Given the description of an element on the screen output the (x, y) to click on. 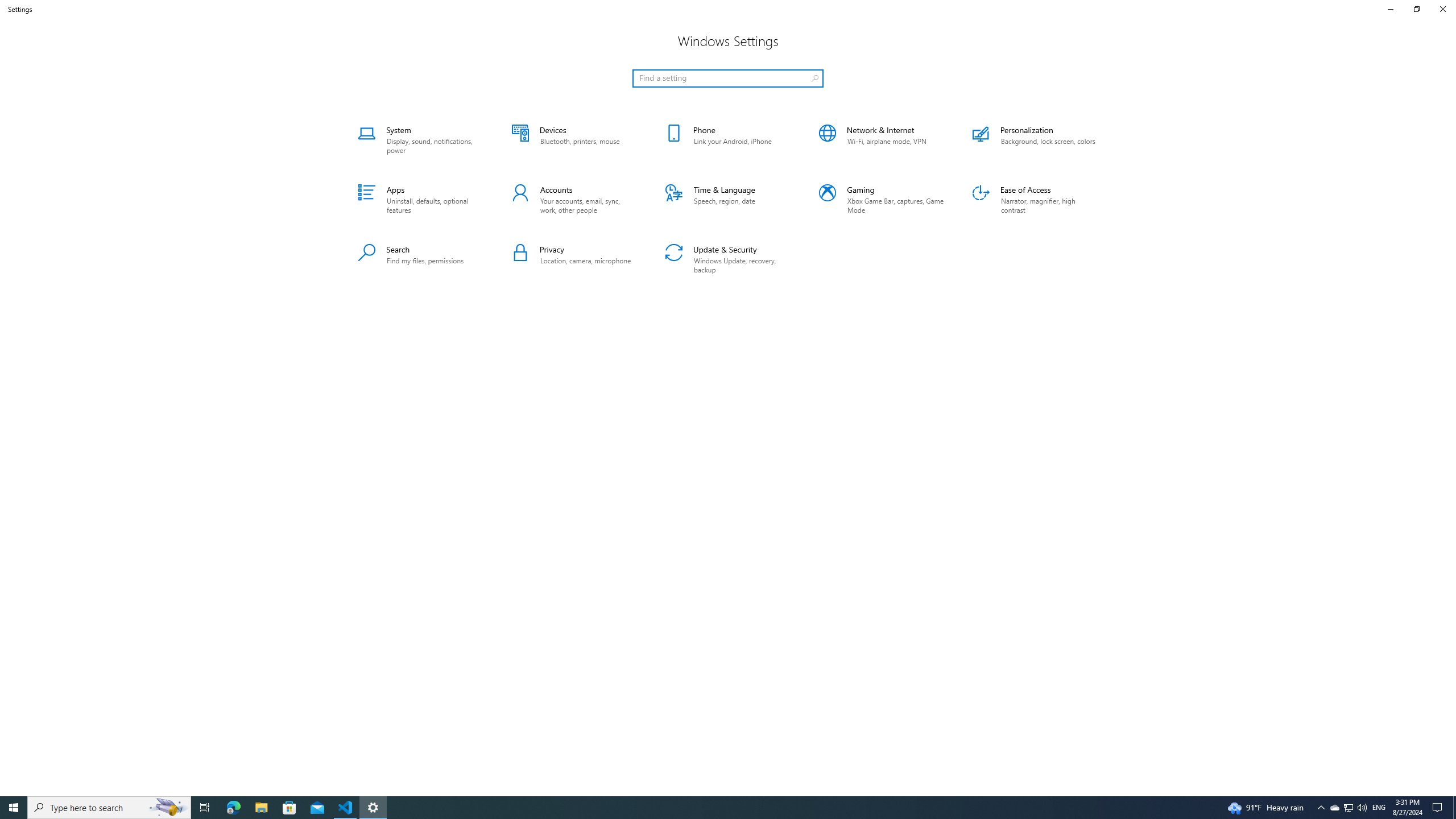
Running applications (706, 807)
Network & Internet (881, 140)
Phone (727, 140)
Gaming (881, 200)
Time & Language (727, 200)
Apps (420, 200)
Ease of Access (1034, 200)
Update & Security (727, 259)
